Given the description of an element on the screen output the (x, y) to click on. 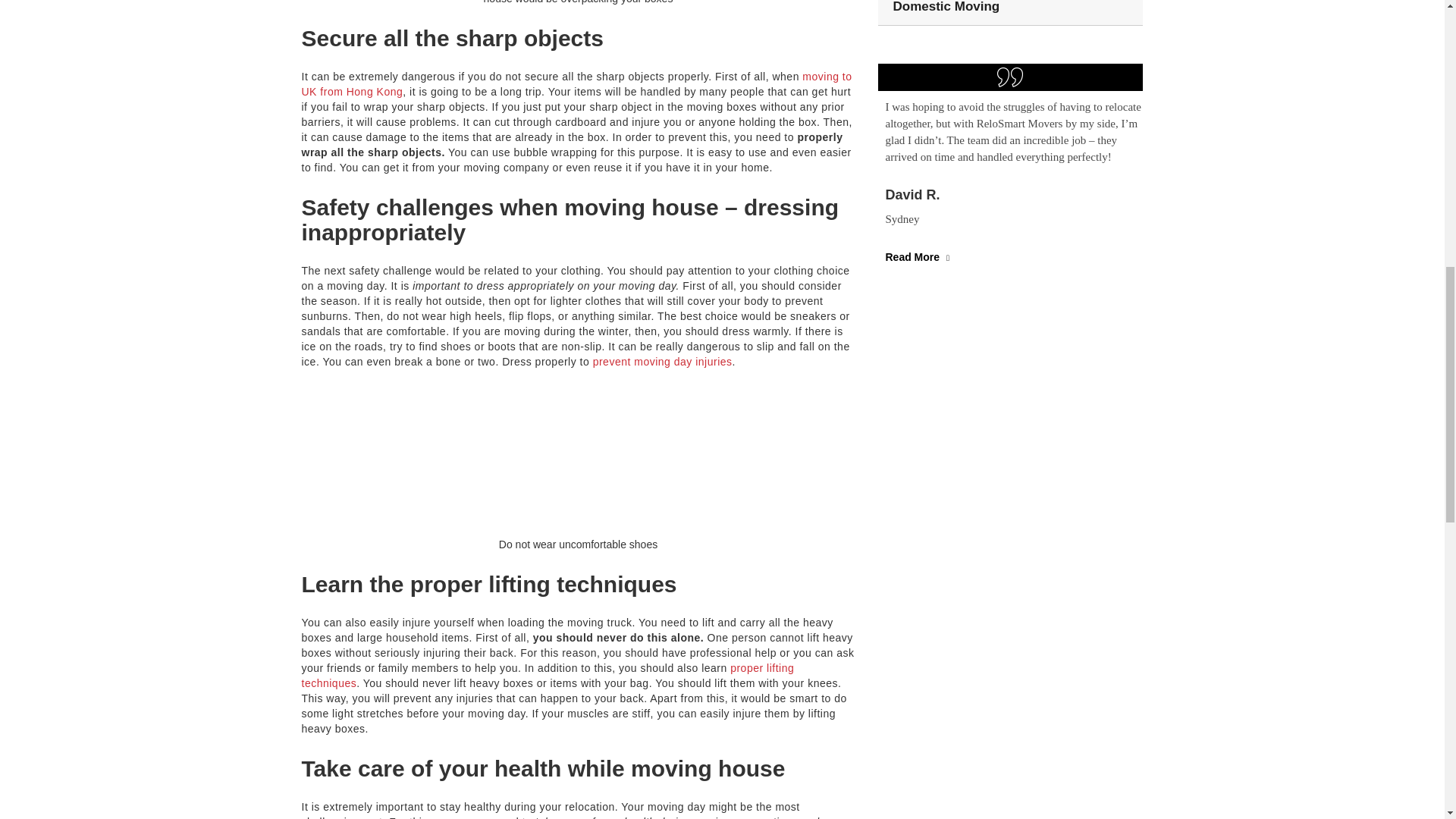
prevent moving day injuries (662, 361)
proper lifting techniques (547, 675)
Read More (919, 256)
Domestic Moving (946, 6)
moving to UK from Hong Kong (576, 83)
